Given the description of an element on the screen output the (x, y) to click on. 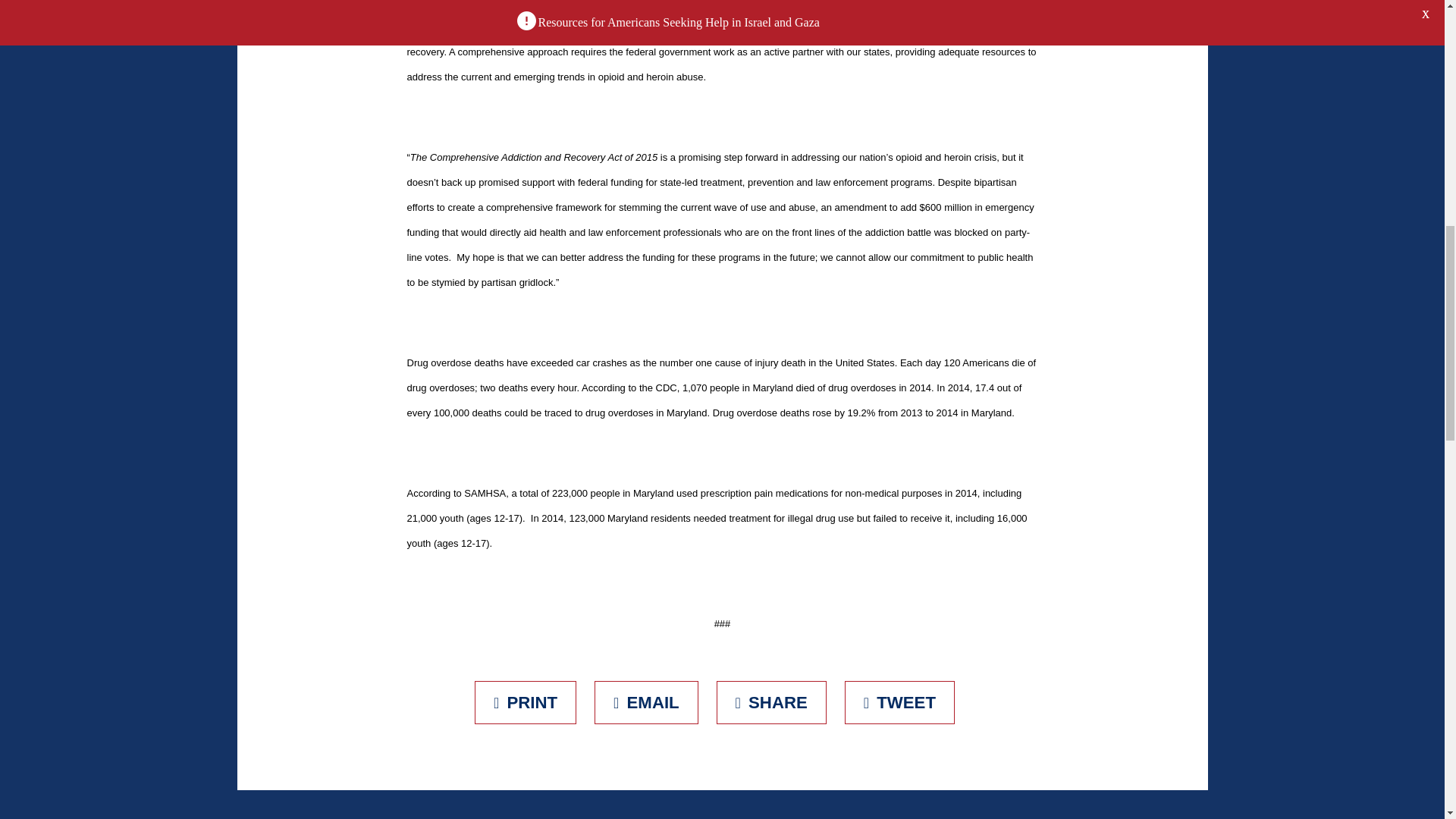
Email (646, 701)
Tweet (899, 701)
Print (525, 701)
Share on Facebook (771, 701)
